Given the description of an element on the screen output the (x, y) to click on. 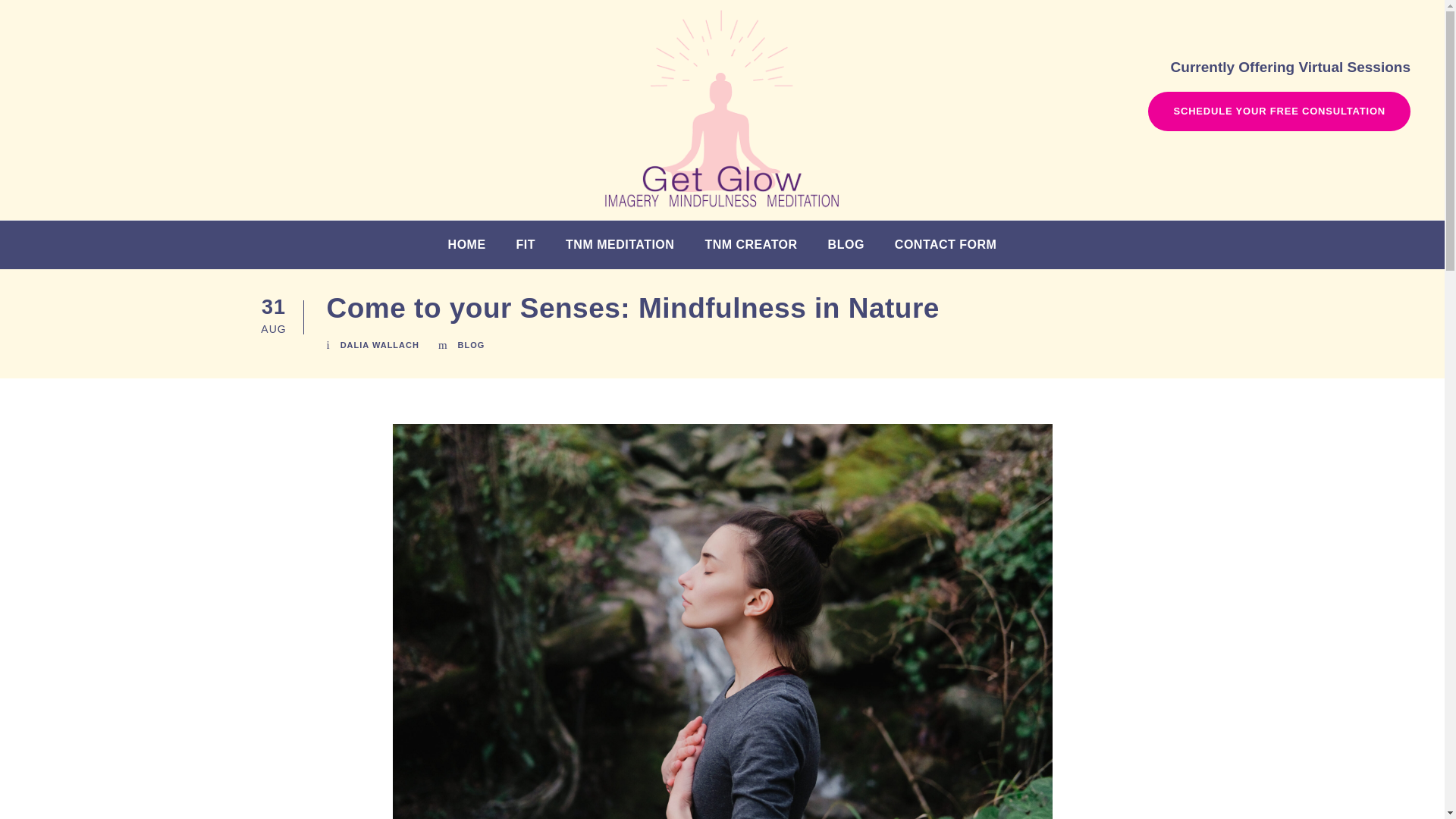
TNM MEDITATION (620, 251)
BLOG (471, 344)
BLOG (846, 251)
SCHEDULE YOUR FREE CONSULTATION (1279, 111)
HOME (467, 251)
Posts by Dalia Wallach (379, 344)
CONTACT FORM (946, 251)
Get-Glow-logo2023 (721, 108)
DALIA WALLACH (379, 344)
TNM CREATOR (750, 251)
